Given the description of an element on the screen output the (x, y) to click on. 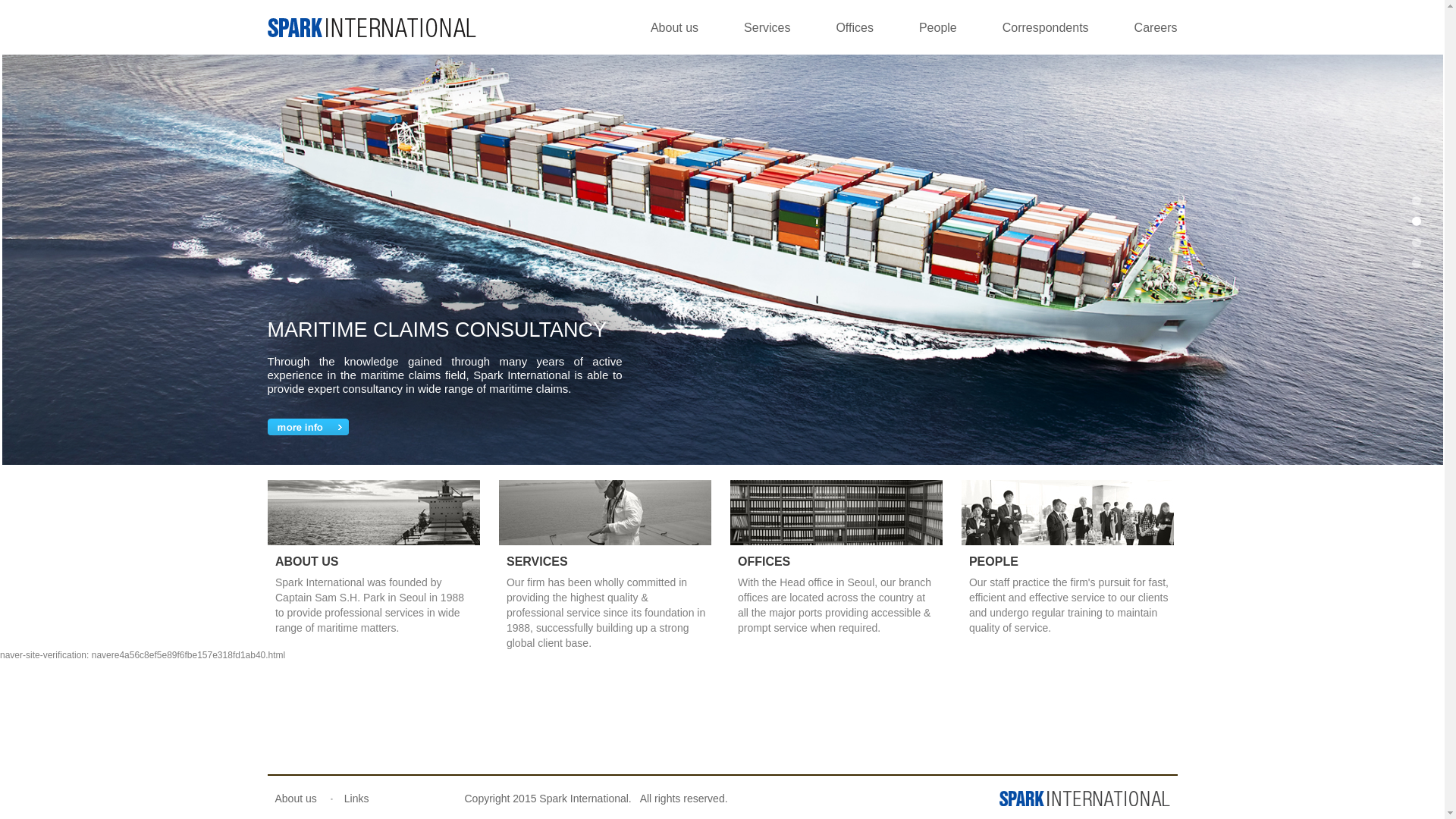
Careers (1155, 27)
Services (767, 27)
Offices (854, 27)
About us (674, 27)
Correspondents (1046, 27)
People (937, 27)
